Given the description of an element on the screen output the (x, y) to click on. 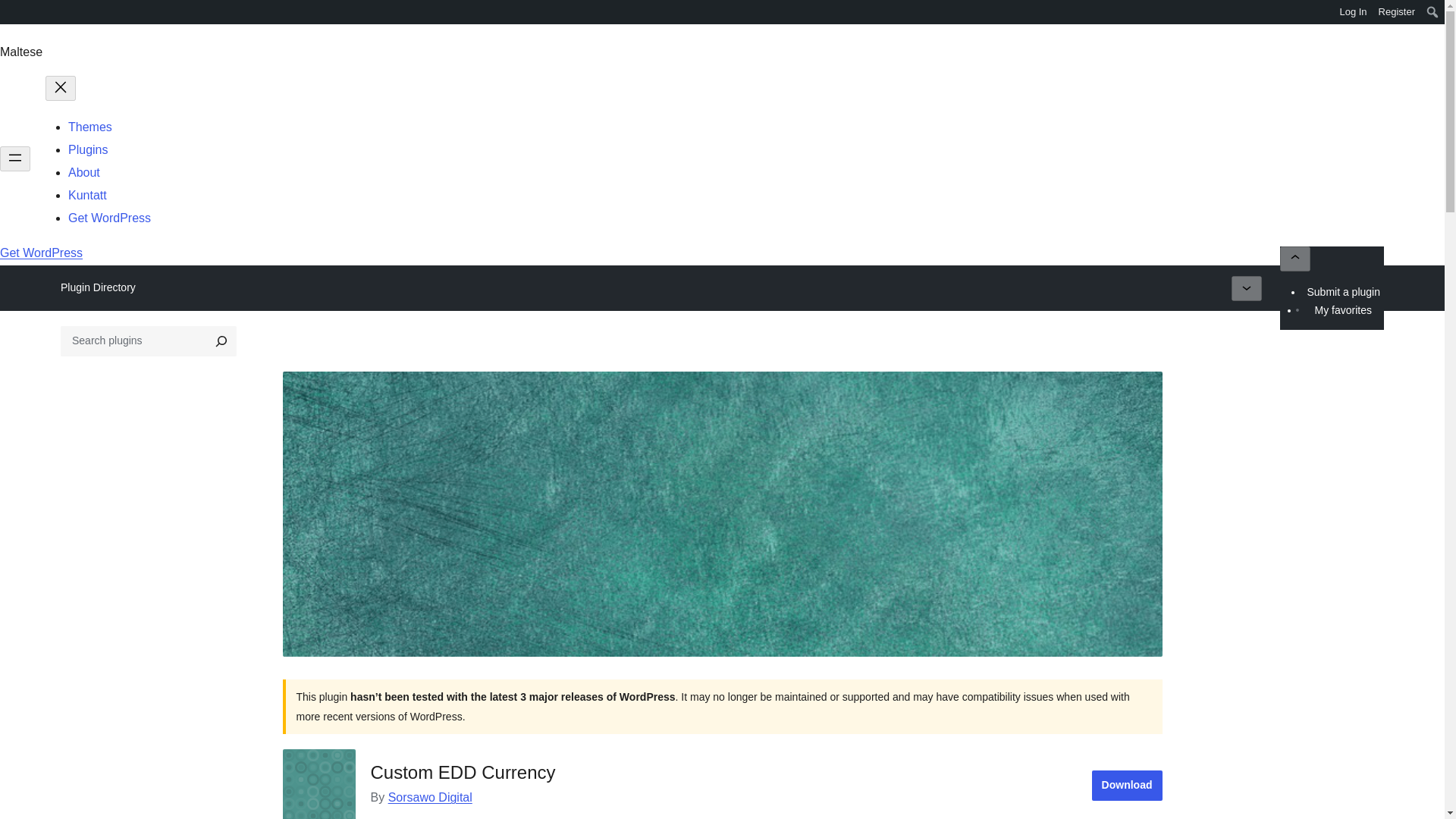
Submit a plugin (1343, 291)
Search (16, 13)
Register (1397, 12)
Sorsawo Digital (429, 797)
WordPress.org (10, 10)
Get WordPress (109, 217)
Log In (1353, 12)
Themes (90, 126)
Plugins (87, 149)
About (84, 172)
